Given the description of an element on the screen output the (x, y) to click on. 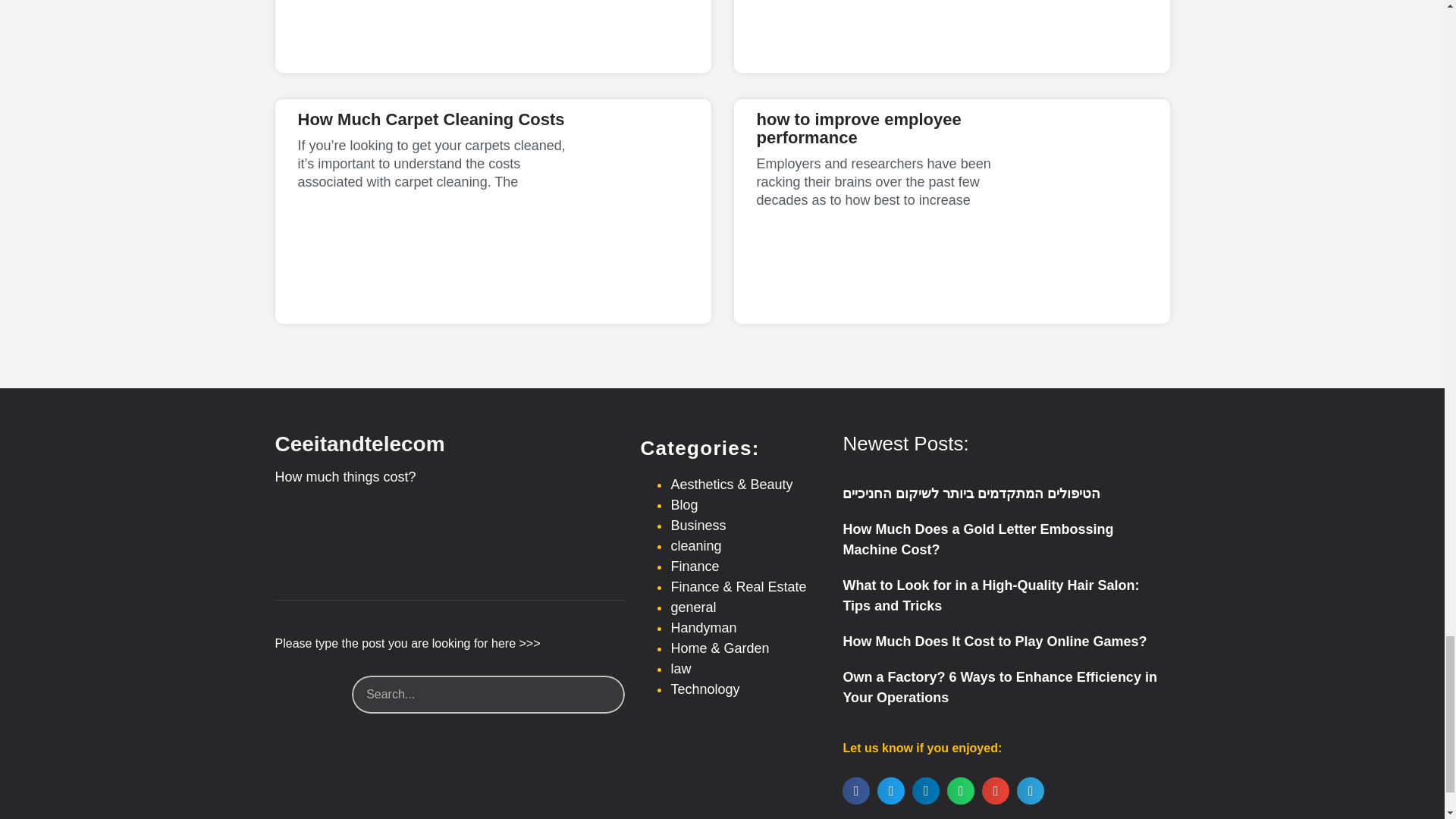
How Much Carpet Cleaning Costs (430, 118)
how to improve employee performance (858, 128)
